Given the description of an element on the screen output the (x, y) to click on. 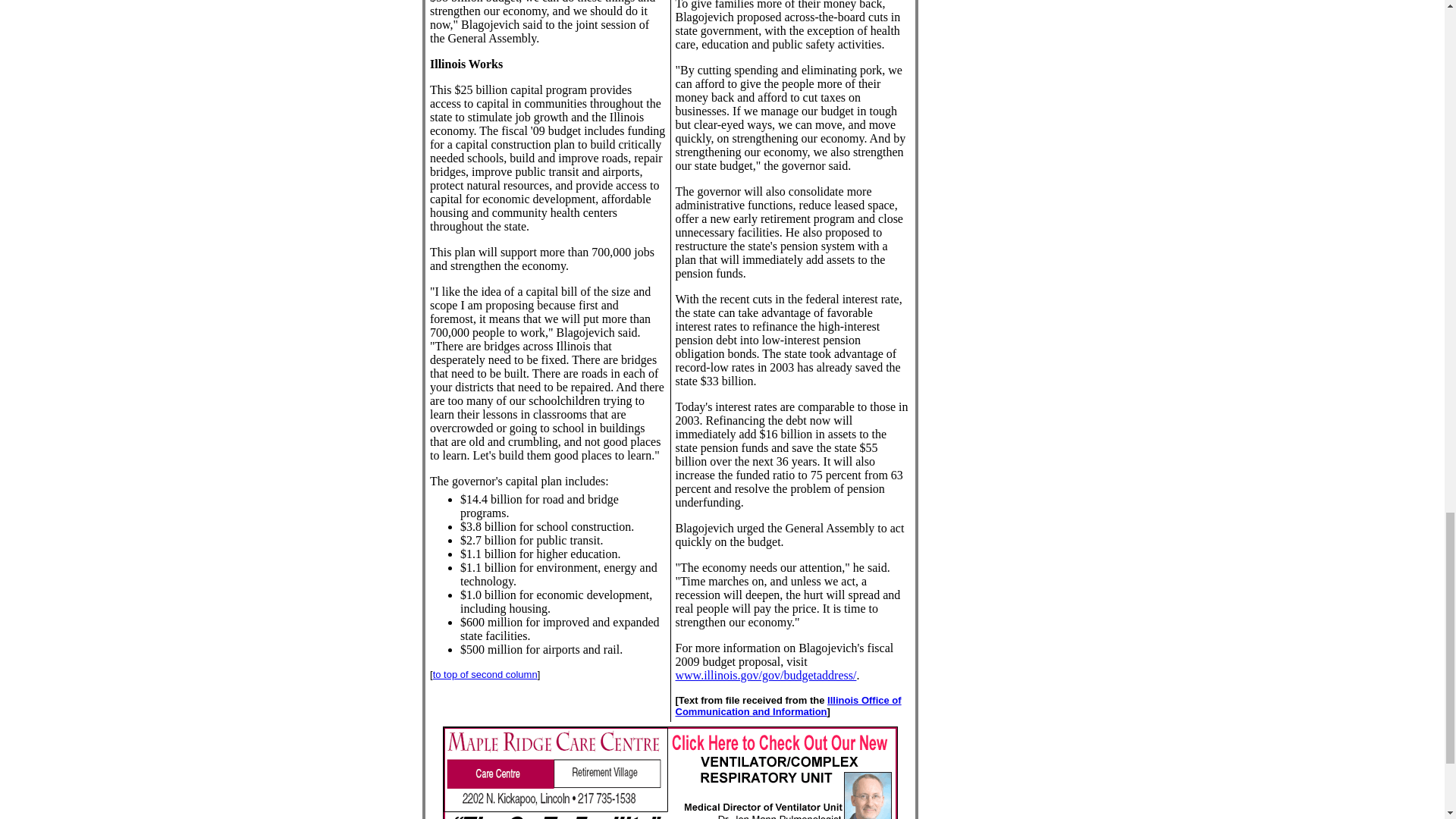
to top of second column (484, 674)
Illinois Office of Communication and Information (788, 705)
